Given the description of an element on the screen output the (x, y) to click on. 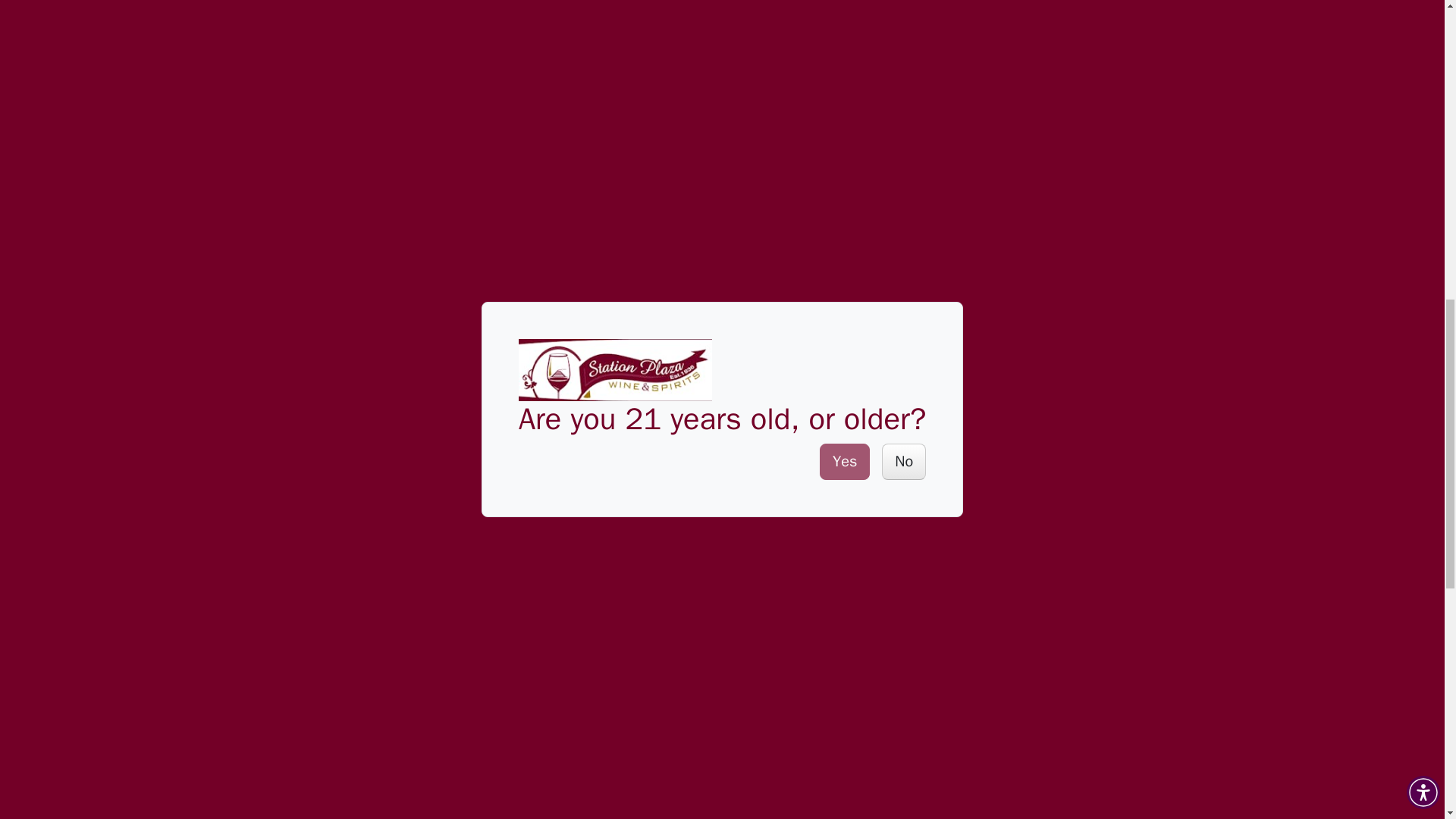
Wine Enthusiast 94 point rating. (781, 550)
Wine Advocate 96 point rating. (770, 310)
Station Plaza Wine 95 point rating. (800, 532)
James Suckling 96 point rating. (775, 447)
Wine Spectator 94 point rating. (774, 651)
